Given the description of an element on the screen output the (x, y) to click on. 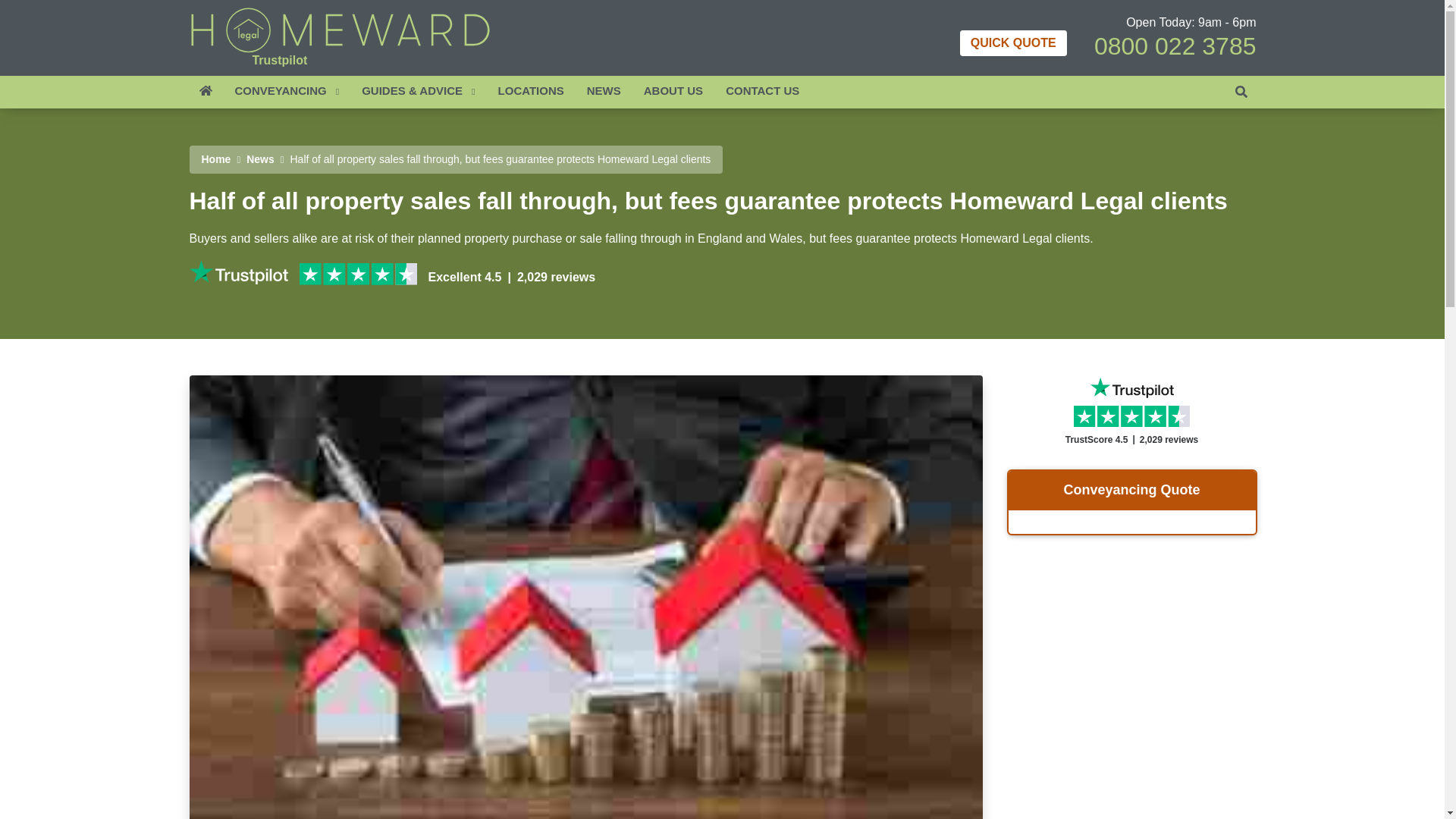
Go to Homepage (216, 159)
Trustpilot (238, 272)
Go to Homepage (339, 27)
Homeward Legal (339, 30)
Trustpilot (279, 60)
CONVEYANCING (286, 92)
Go to Homepage (205, 92)
QUICK QUOTE (1012, 43)
LOCATIONS (530, 92)
0800 022 3785 (1236, 41)
